Given the description of an element on the screen output the (x, y) to click on. 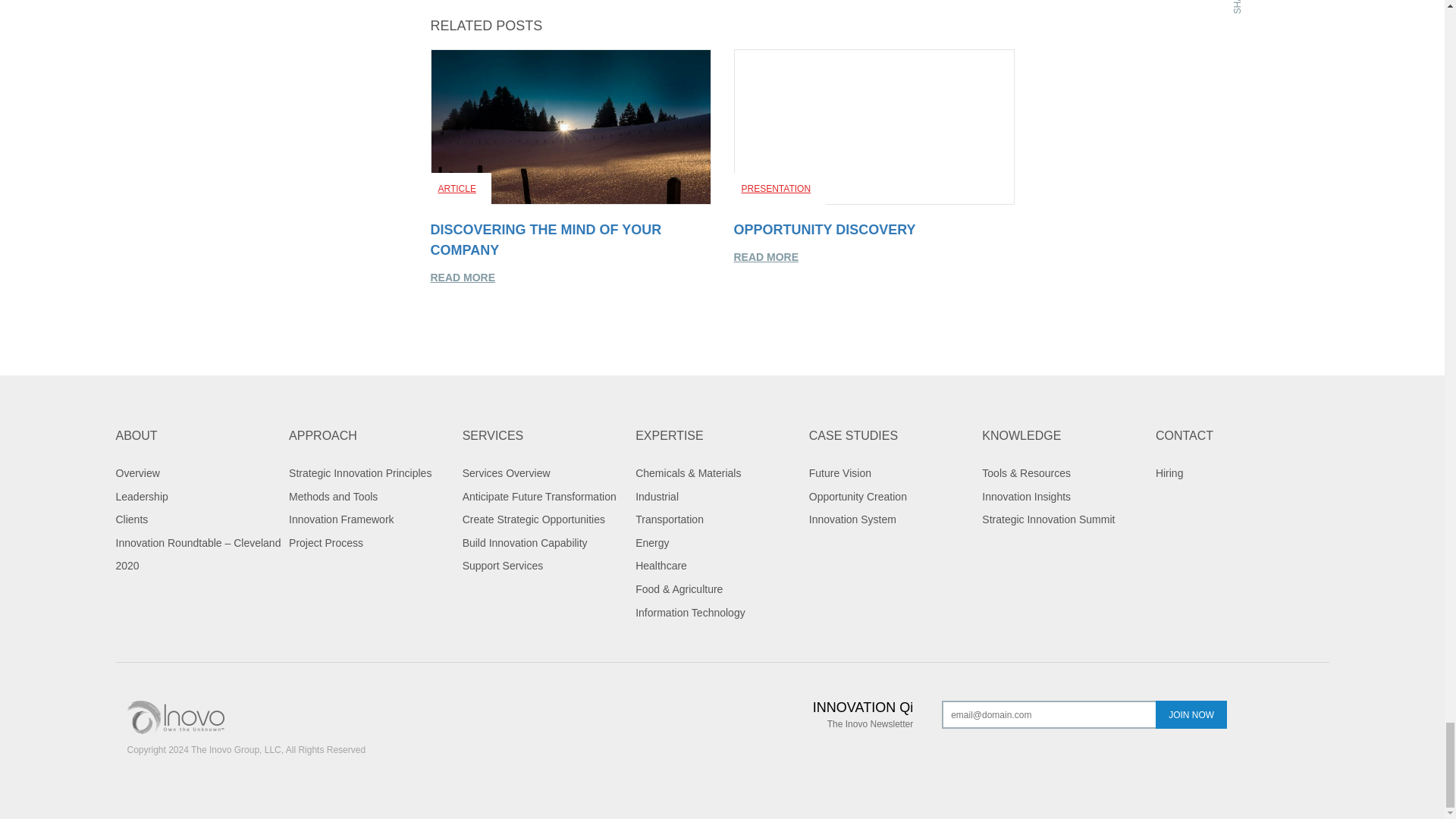
Join Now (1191, 714)
